Given the description of an element on the screen output the (x, y) to click on. 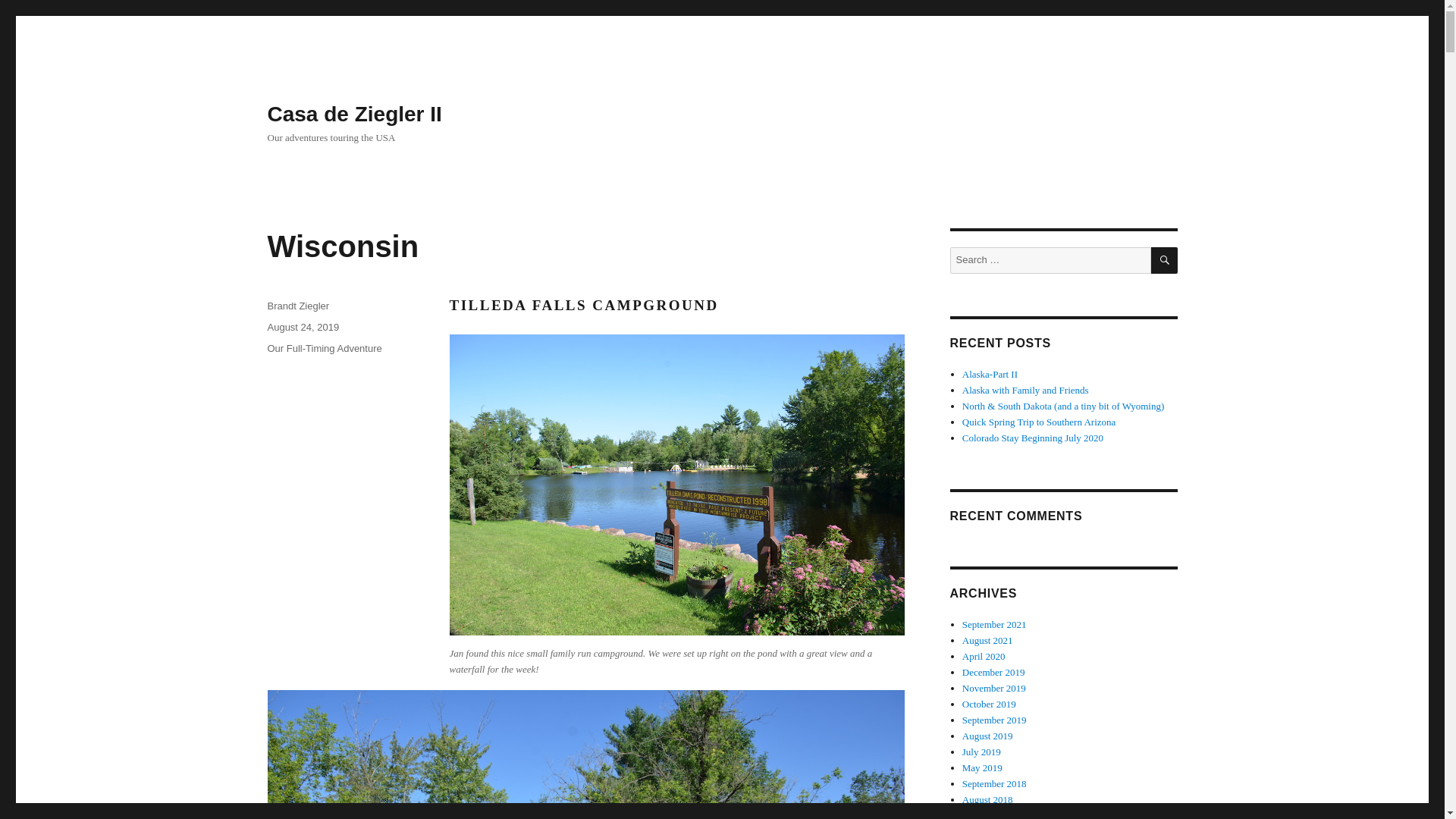
Our Full-Timing Adventure (323, 348)
August 24, 2019 (302, 326)
Brandt Ziegler (297, 306)
Casa de Ziegler II (353, 114)
